Given the description of an element on the screen output the (x, y) to click on. 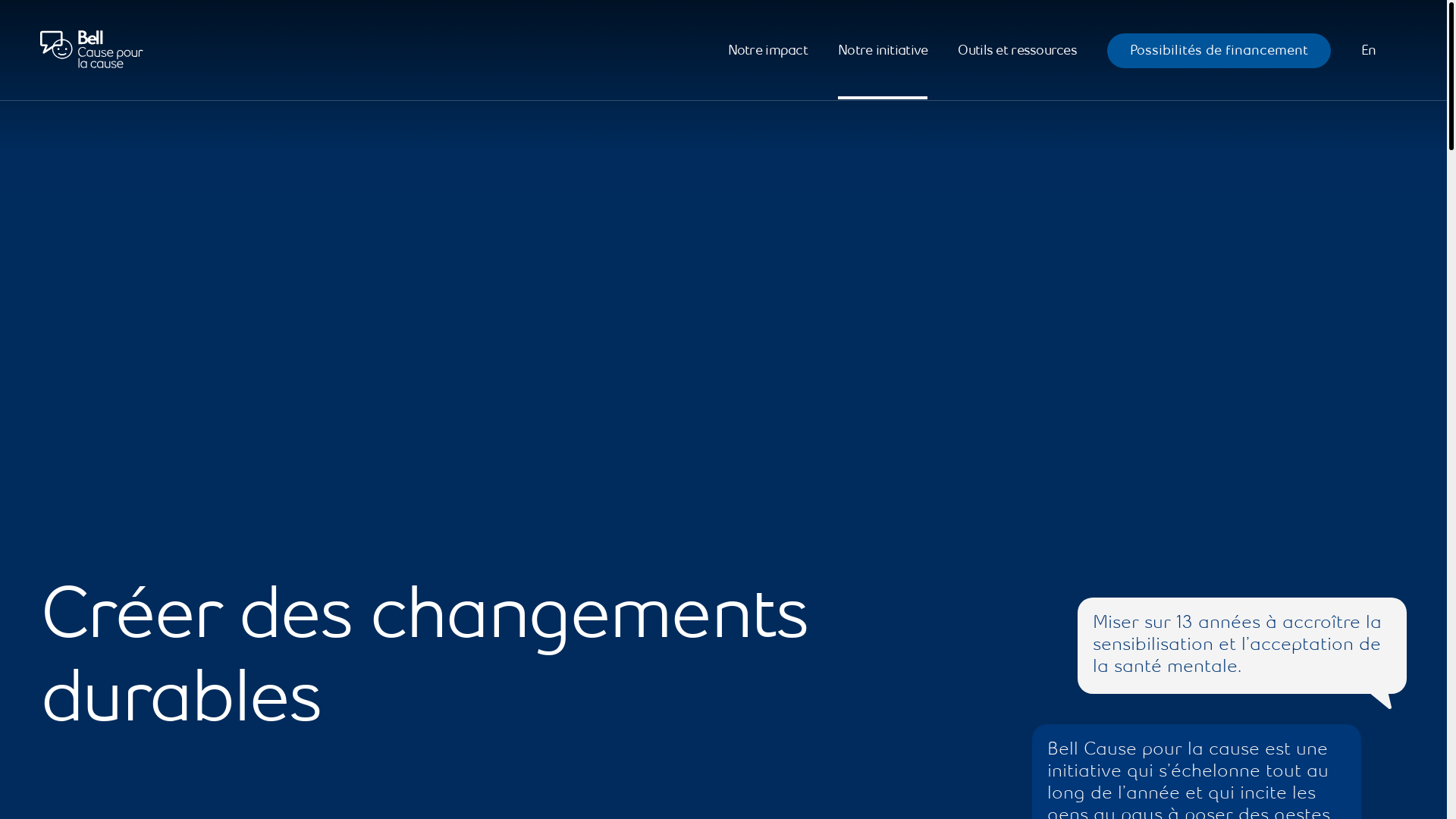
Bell cause pour la causeLogo de Bell cause pour la cause Element type: text (91, 50)
Notre initiative Element type: text (882, 50)
Outils et ressources Element type: text (1016, 50)
Notre impact Element type: text (767, 50)
En Element type: text (1368, 50)
Aller au contenu principal Element type: text (51, 62)
